Given the description of an element on the screen output the (x, y) to click on. 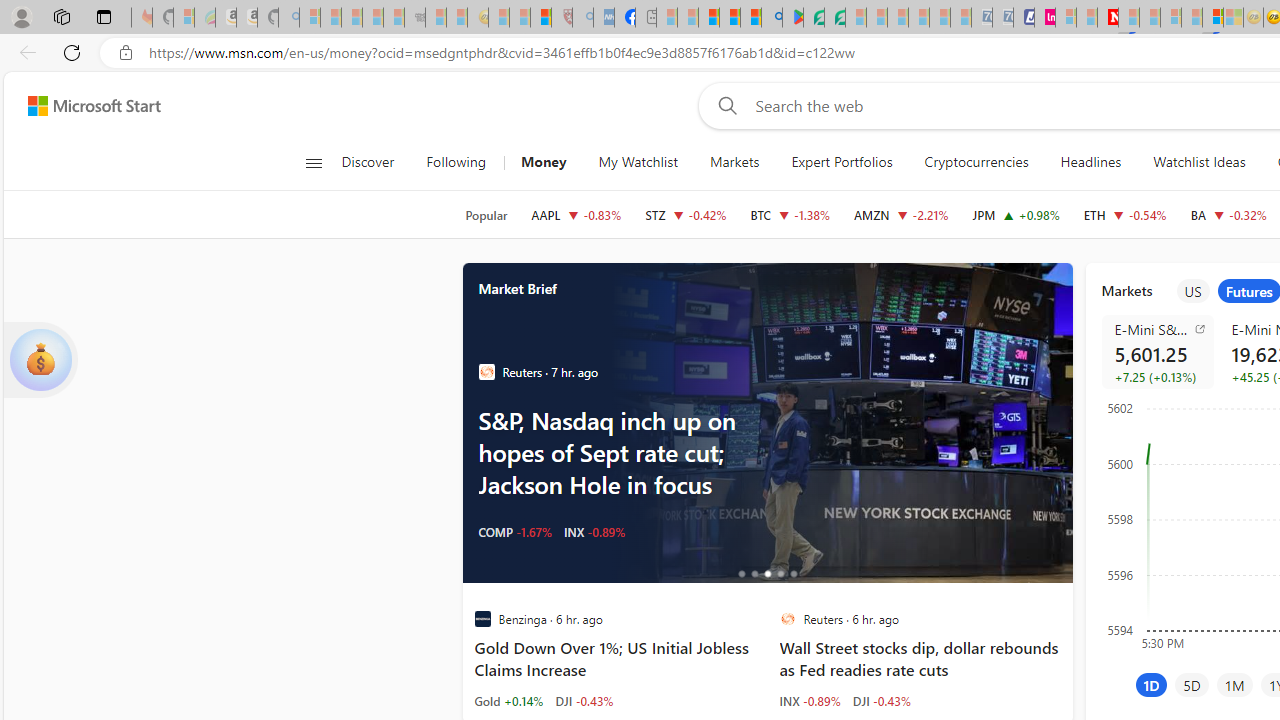
Latest Politics News & Archive | Newsweek.com (1107, 17)
Markets (733, 162)
JPM JPMORGAN CHASE & CO. increase 216.71 +2.11 +0.98% (1016, 214)
Watchlist Ideas (1199, 162)
Cryptocurrencies (976, 162)
BA THE BOEING COMPANY decrease 172.87 -0.56 -0.32% (1227, 214)
Gold +0.14% (508, 700)
